Given the description of an element on the screen output the (x, y) to click on. 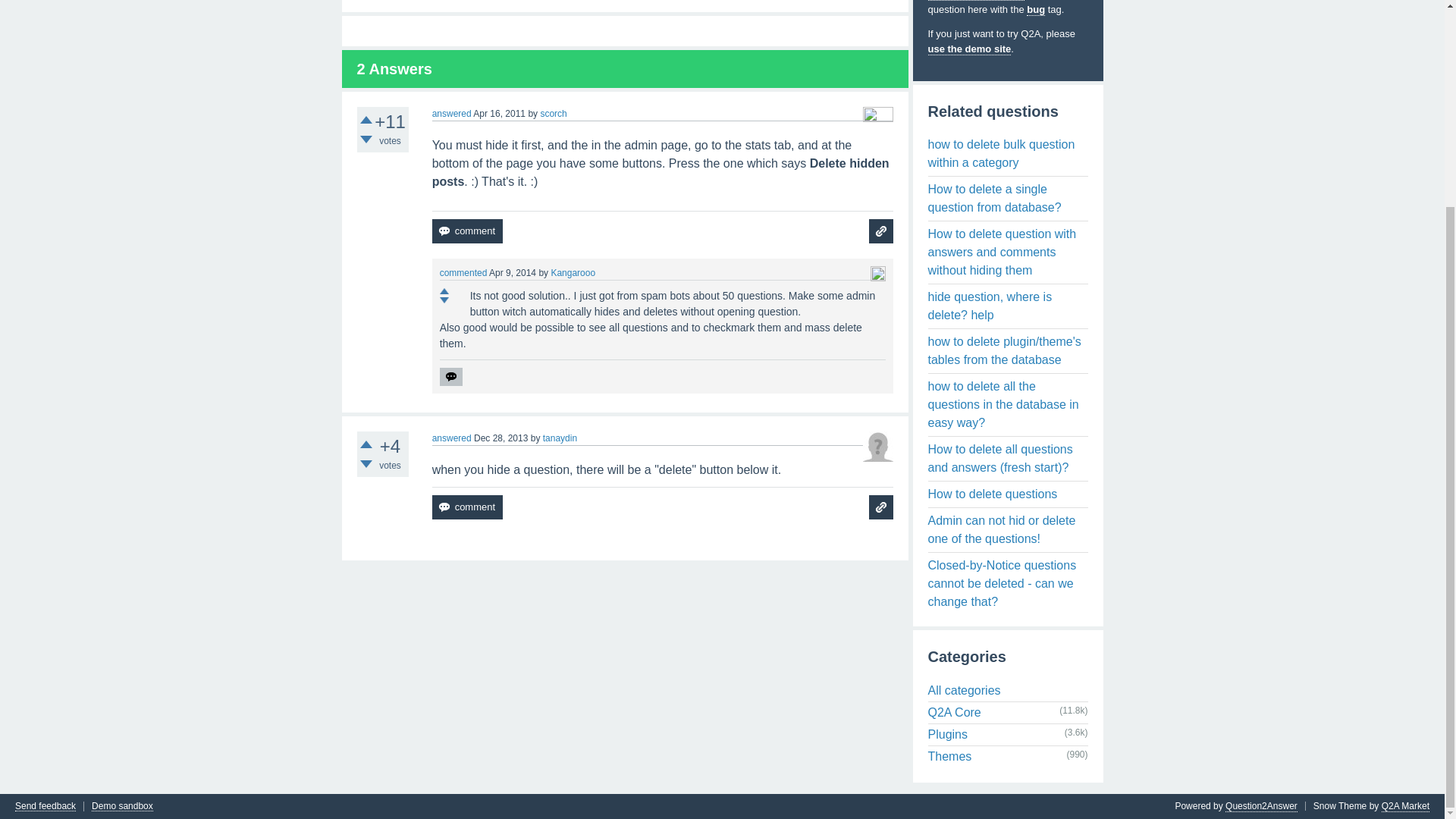
Click to vote up (443, 291)
Click to vote down (365, 139)
Ask a new question relating to this answer (881, 507)
reply (451, 376)
ask related question (881, 507)
comment (467, 507)
answered (451, 113)
ask related question (881, 231)
comment (467, 231)
scorch (553, 113)
Reply to this comment (451, 376)
Click to vote up (365, 443)
Click to vote down (365, 463)
Ask a new question relating to this answer (881, 231)
comment (467, 231)
